Given the description of an element on the screen output the (x, y) to click on. 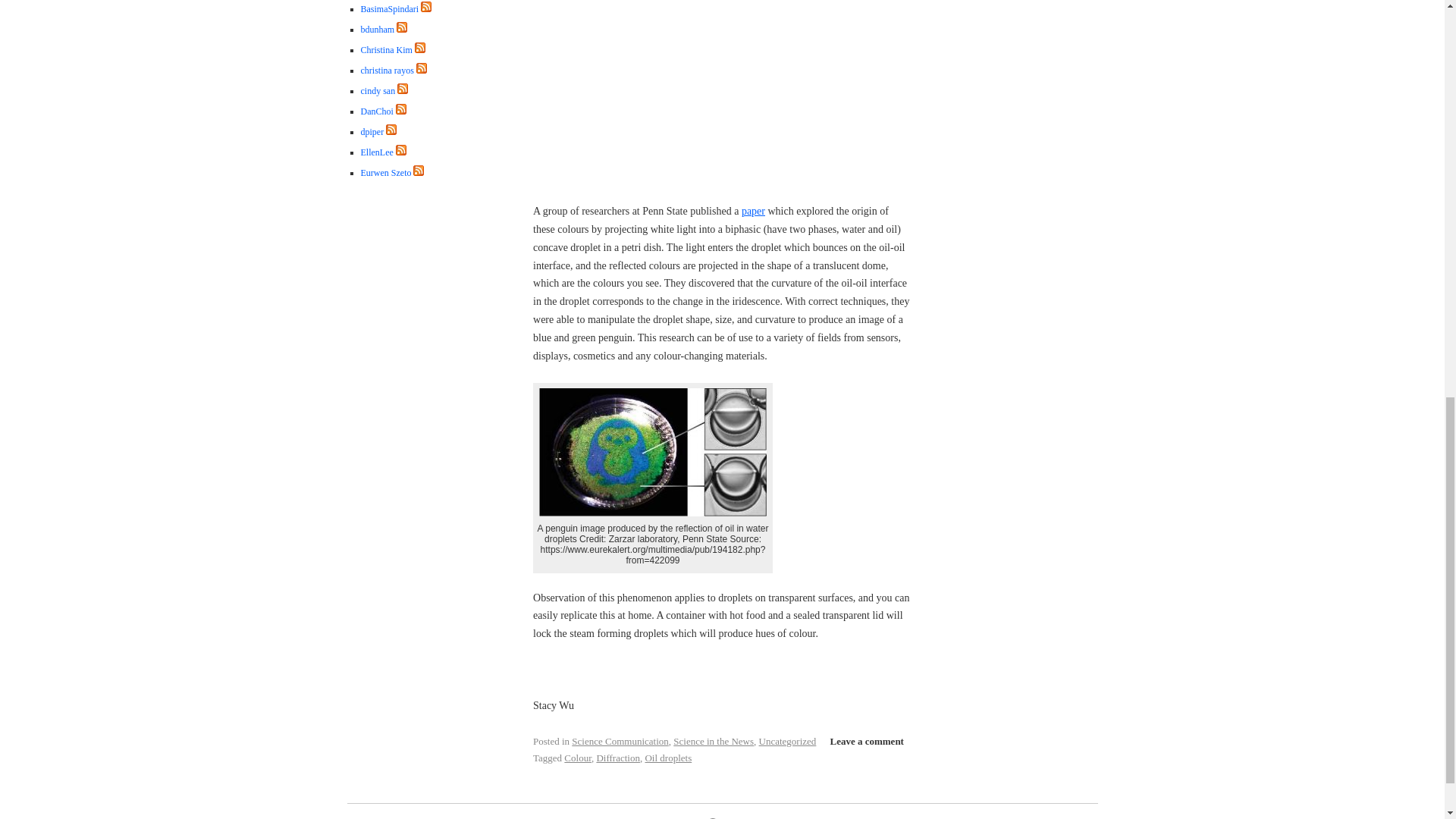
Leave a comment (866, 741)
RSS feed (425, 6)
Diffraction (617, 757)
RSS feed (419, 50)
Posts by BasimaSpindari (390, 9)
Colour (577, 757)
Science Communication (620, 740)
Posts by Christina Kim (386, 50)
paper (753, 211)
Oil droplets (668, 757)
